Given the description of an element on the screen output the (x, y) to click on. 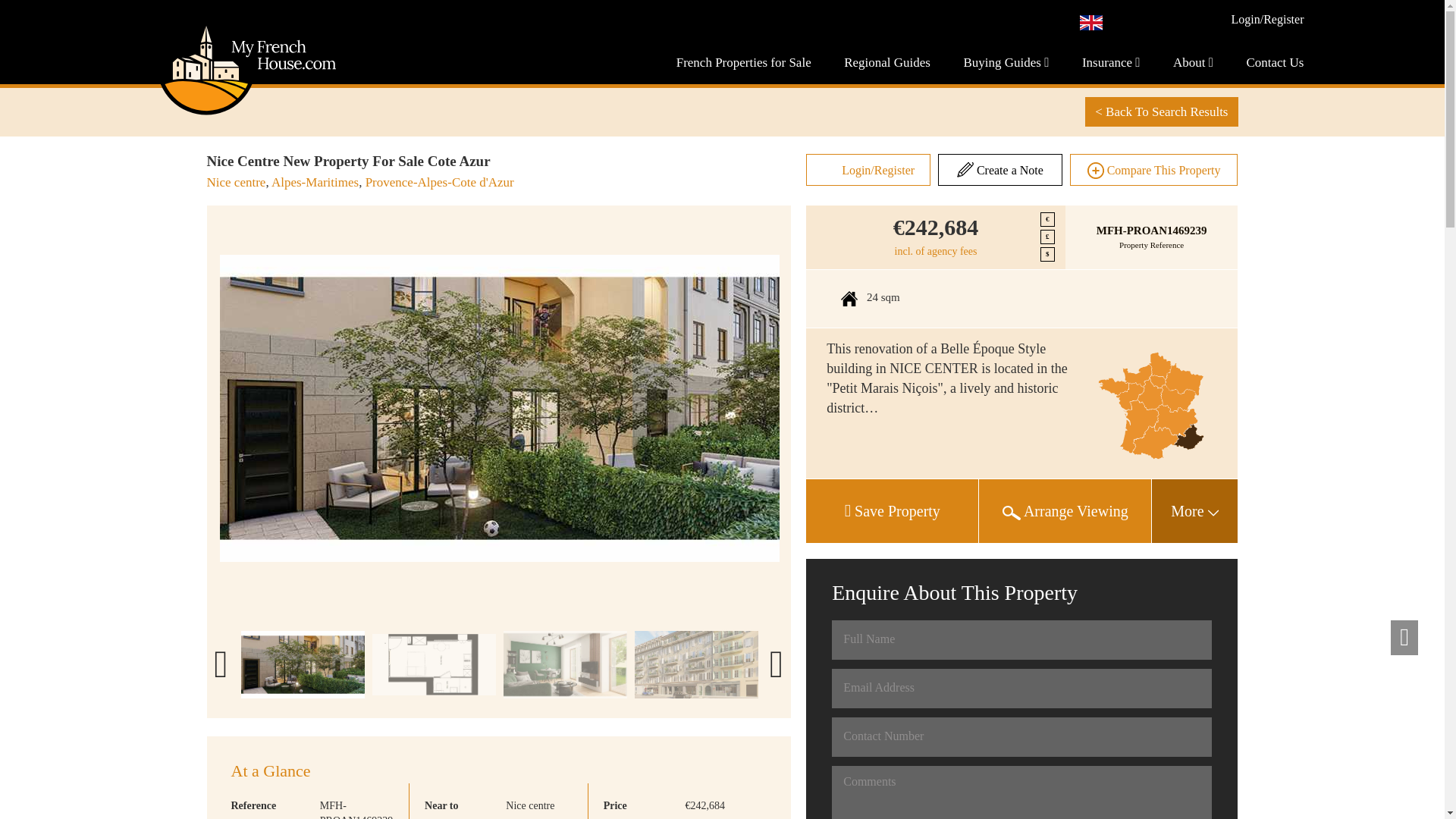
About (1192, 62)
My French House.com (244, 114)
Regional Guides (887, 62)
Insurance (1110, 62)
Buying Guides (1005, 62)
French Properties for Sale (743, 62)
Contact Us (1274, 62)
Nice Centre New Property For Sale Cote Azur (498, 407)
